Given the description of an element on the screen output the (x, y) to click on. 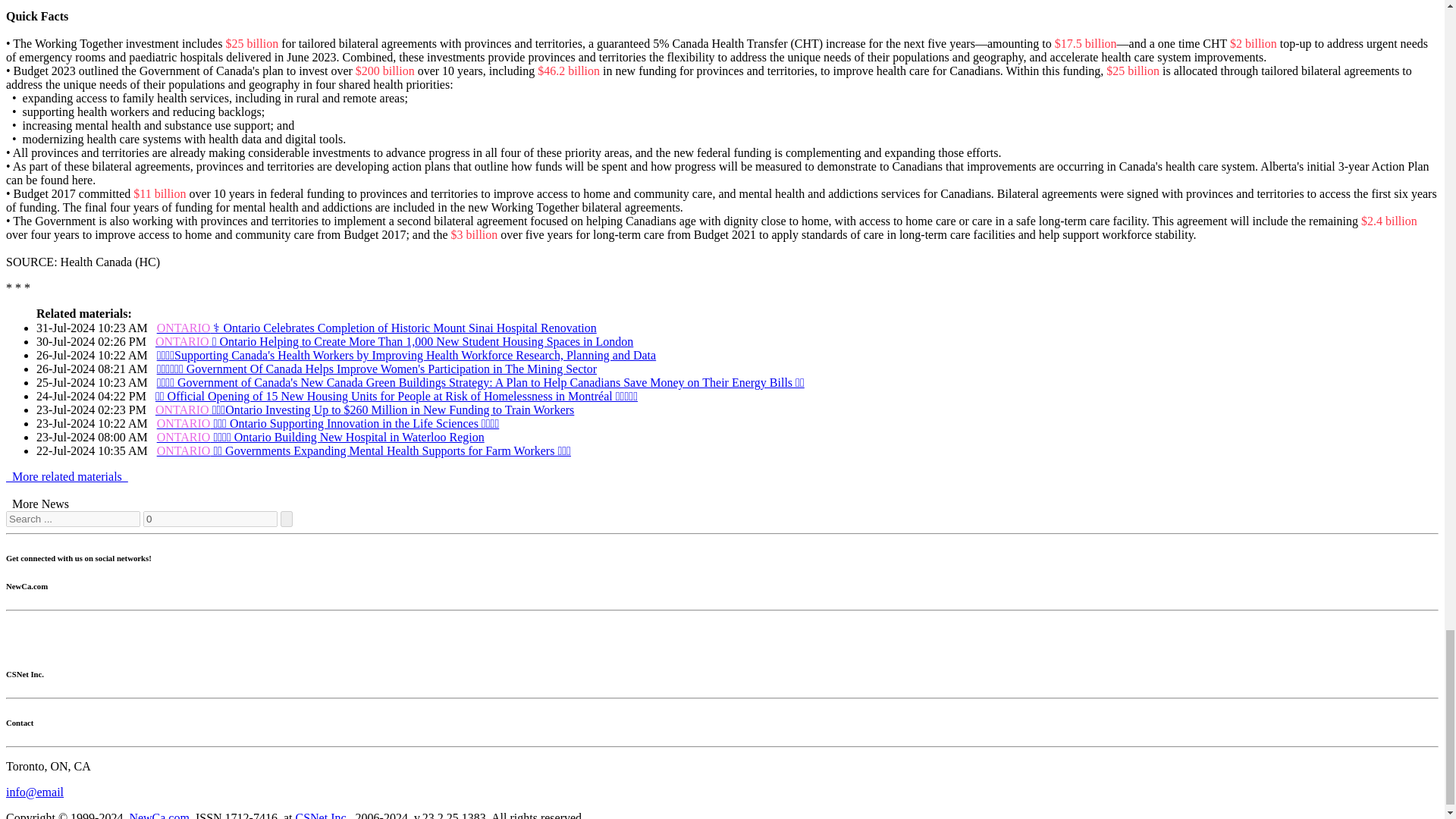
0 (210, 519)
 More News  (40, 503)
 More Related Materials  (66, 476)
